Given the description of an element on the screen output the (x, y) to click on. 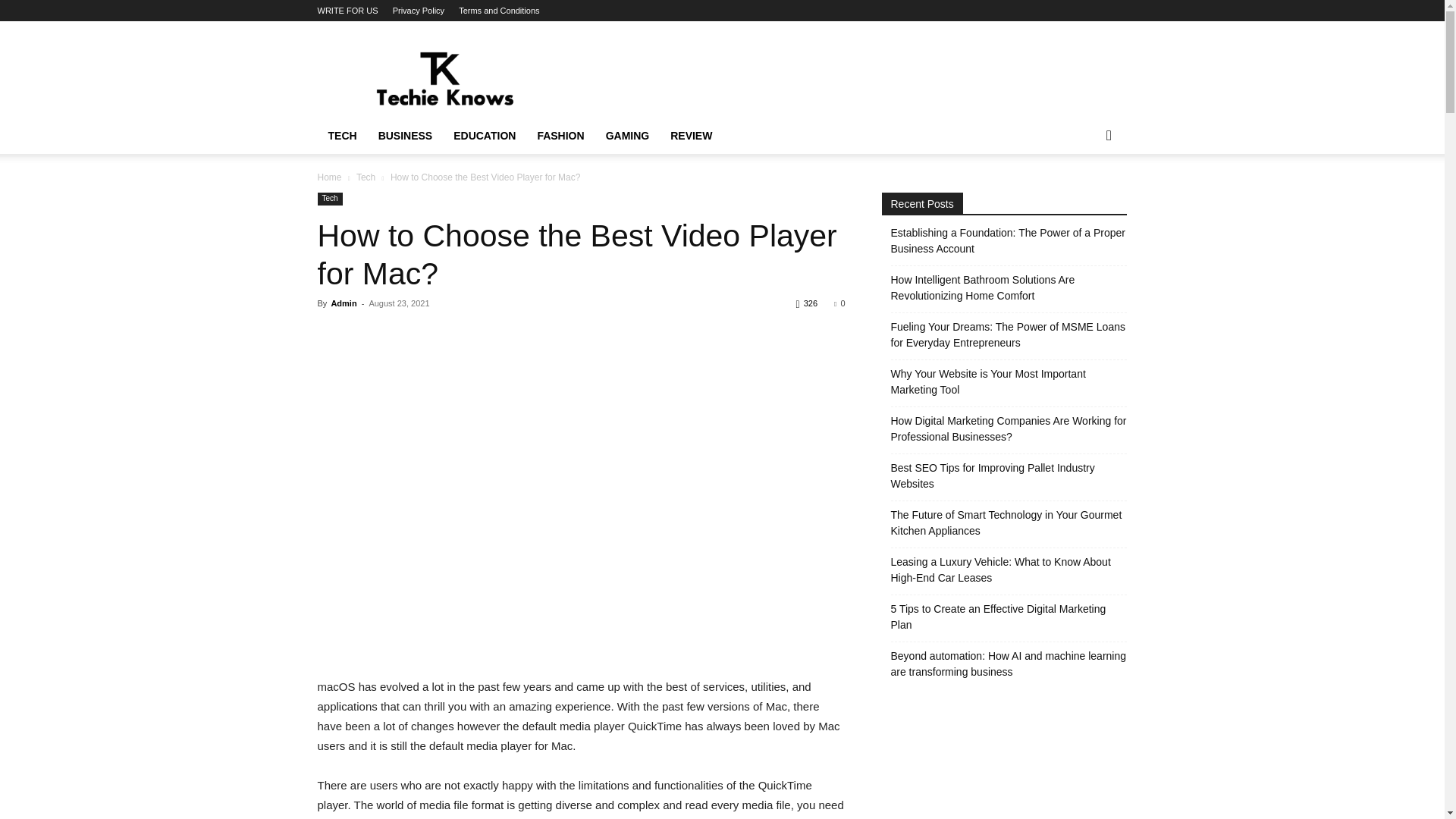
REVIEW (690, 135)
View all posts in Tech (365, 176)
Privacy Policy (418, 10)
WRITE FOR US (347, 10)
BUSINESS (406, 135)
TECH (341, 135)
GAMING (628, 135)
Search (1085, 196)
FASHION (559, 135)
EDUCATION (483, 135)
